Given the description of an element on the screen output the (x, y) to click on. 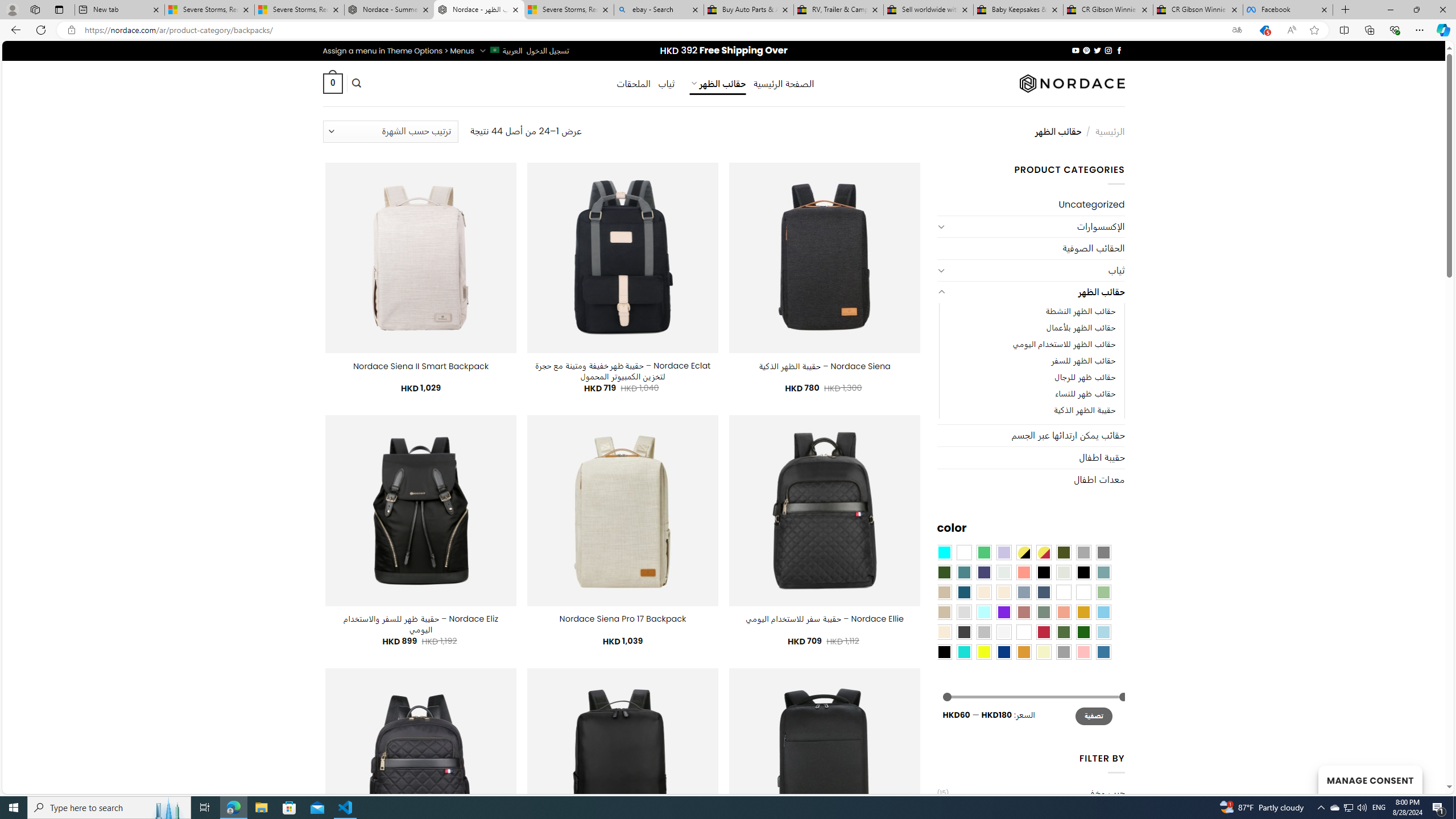
Uncategorized (1030, 204)
This site has coupons! Shopping in Microsoft Edge, 5 (1263, 29)
Aqua Blue (944, 551)
Teal (963, 572)
